Given the description of an element on the screen output the (x, y) to click on. 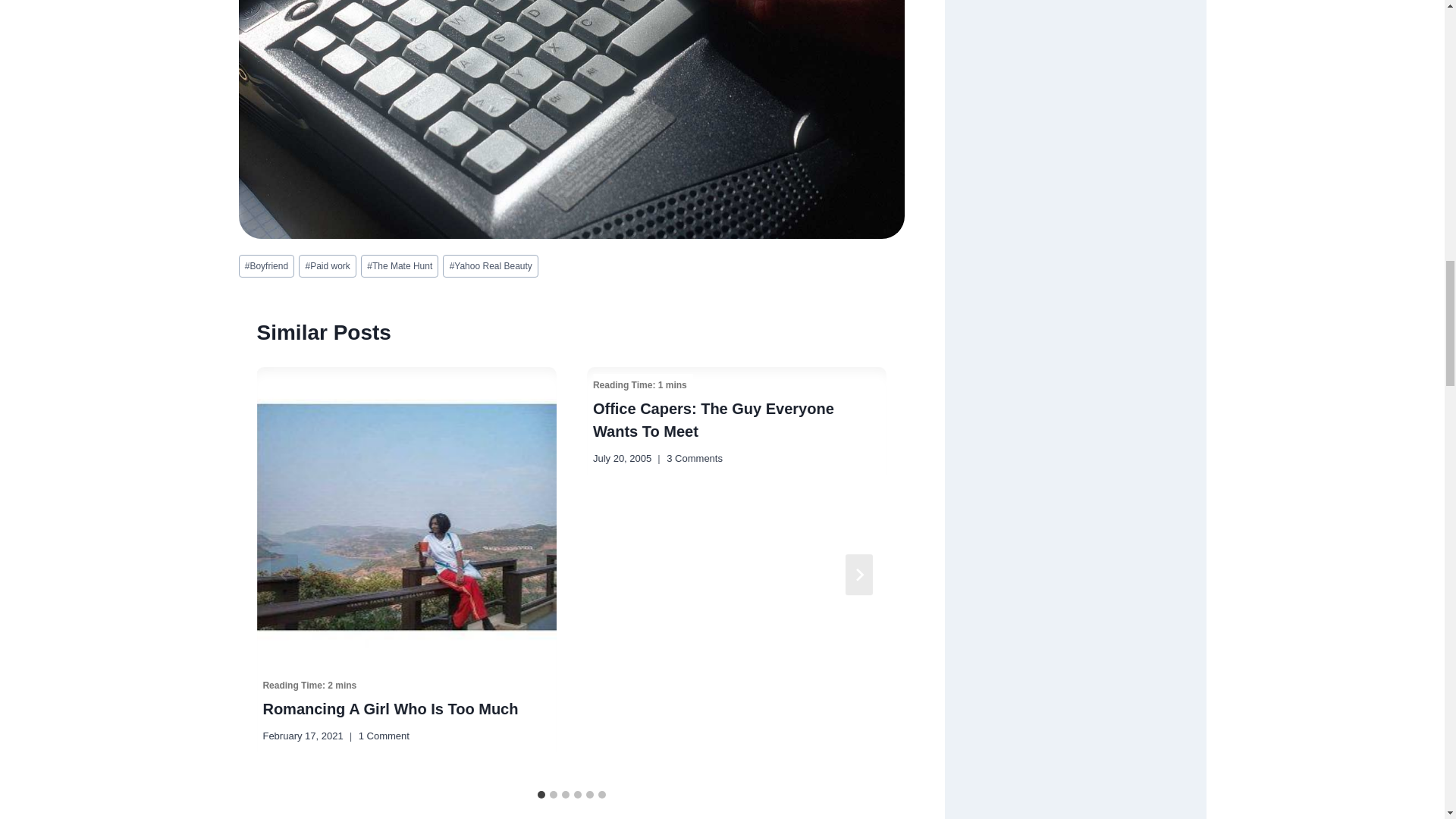
1 Comment (383, 736)
3 Comments (694, 458)
Boyfriend (266, 265)
Yahoo Real Beauty (490, 265)
Paid work (327, 265)
The Mate Hunt (399, 265)
